Given the description of an element on the screen output the (x, y) to click on. 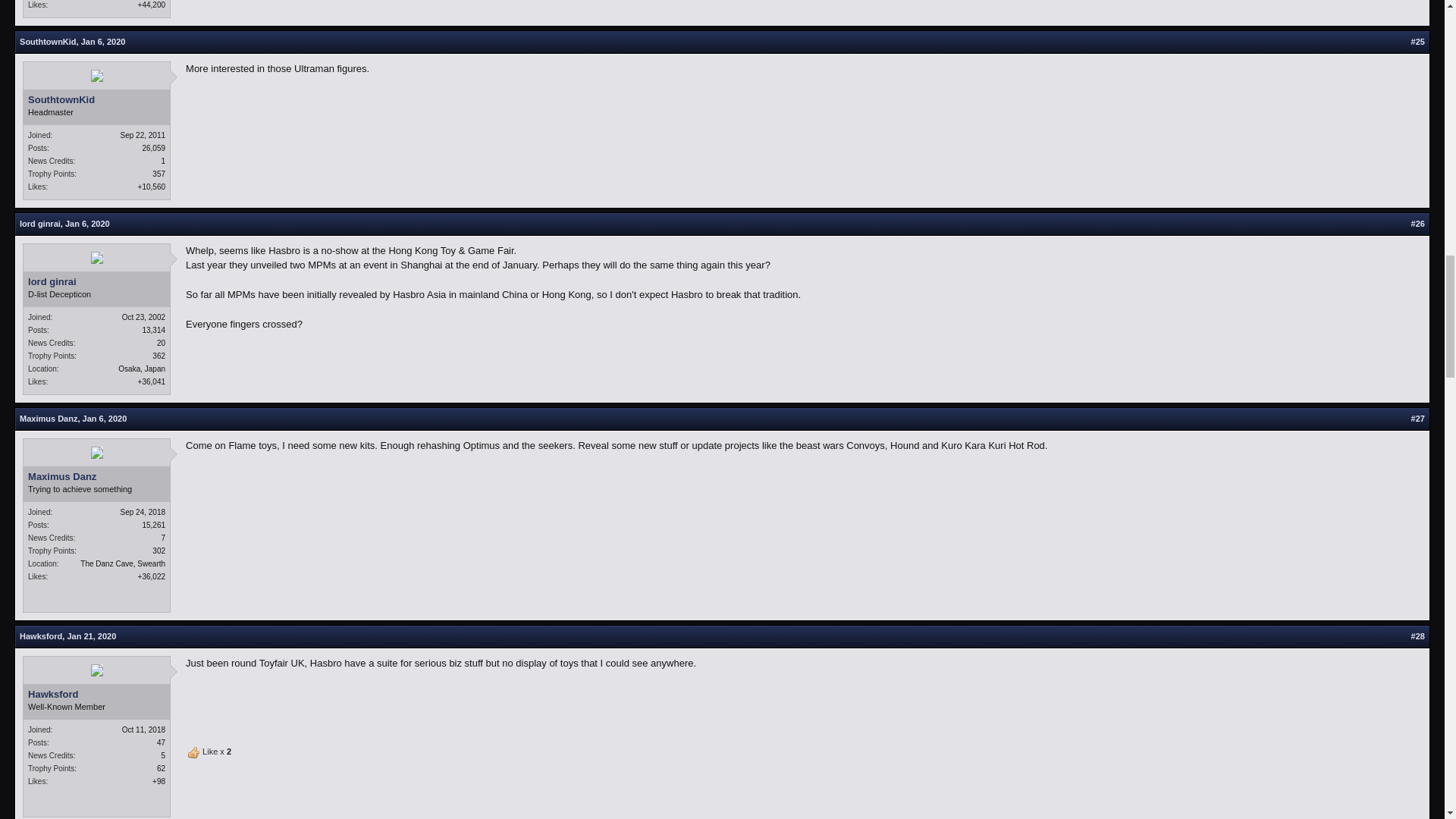
Permalink (103, 40)
